Given the description of an element on the screen output the (x, y) to click on. 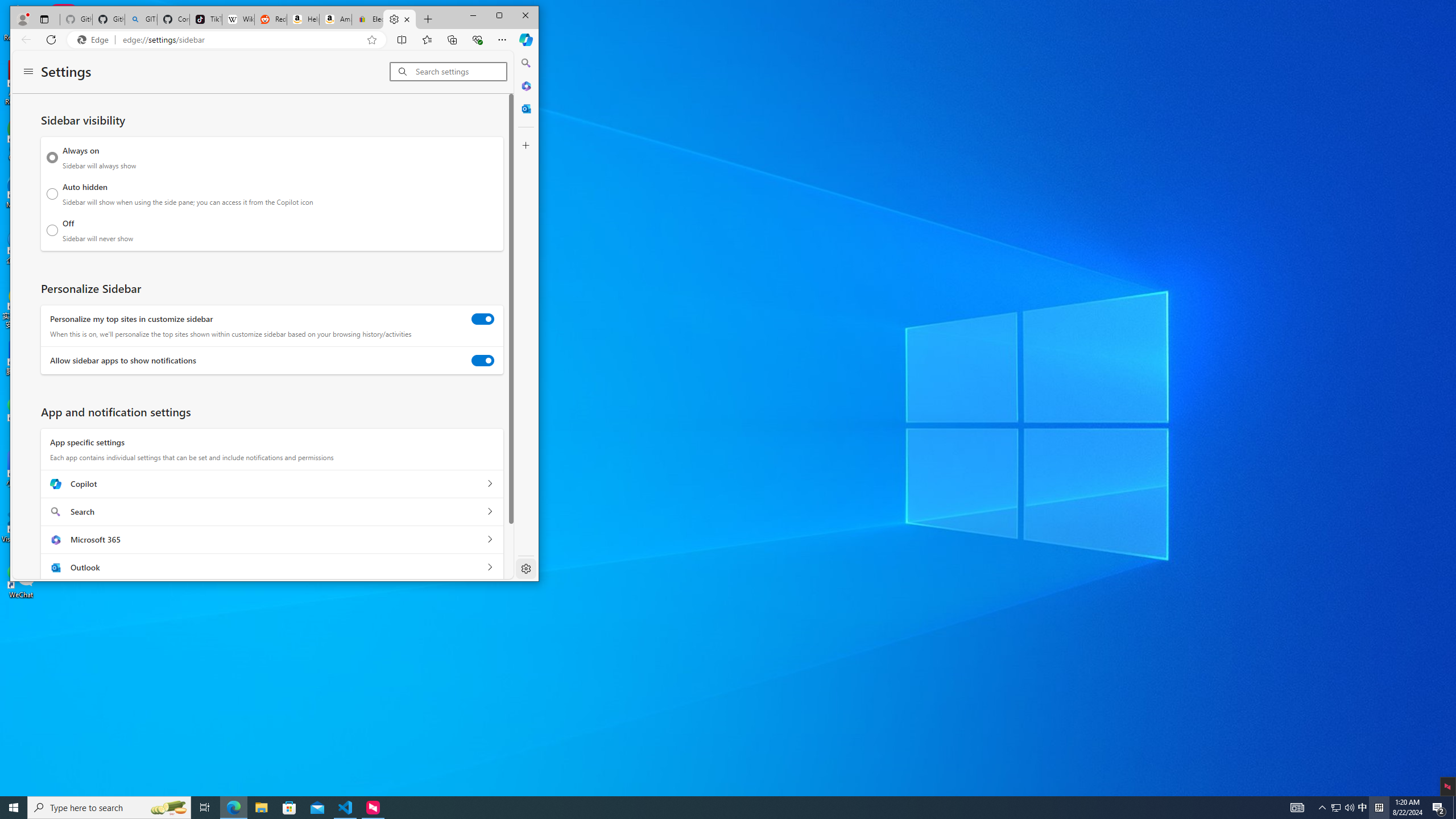
Wikipedia, the free encyclopedia (237, 19)
